Given the description of an element on the screen output the (x, y) to click on. 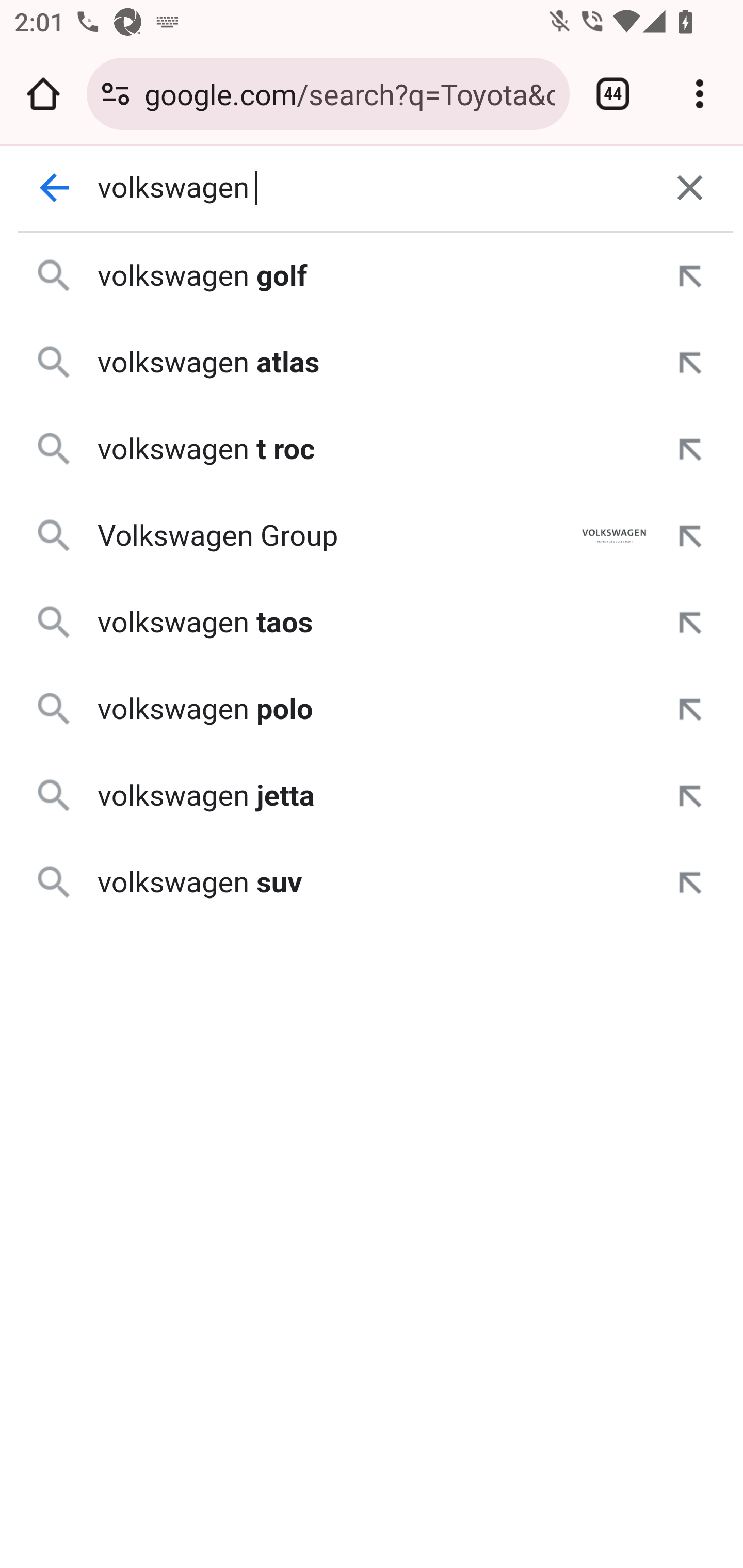
Open the home page (43, 93)
Connection is secure (115, 93)
Switch or close tabs (612, 93)
Customize and control Google Chrome (699, 93)
Back (54, 188)
Clear Search (690, 188)
volkswagen  (372, 188)
